Given the description of an element on the screen output the (x, y) to click on. 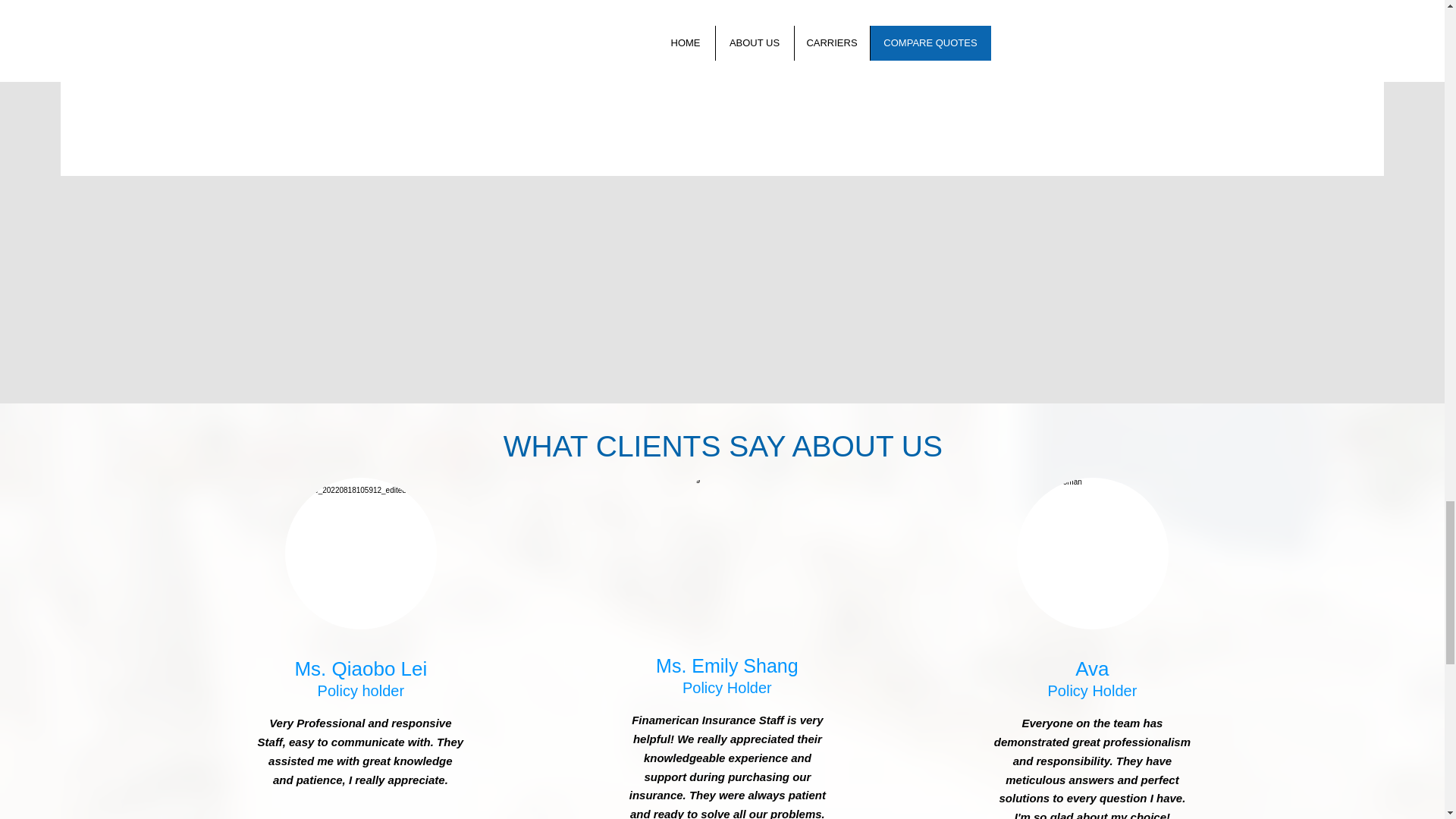
GettyImages-535587703.jpg (360, 553)
GettyImages-124893619.jpg (726, 550)
GettyImages-145680711.jpg (1092, 553)
